Given the description of an element on the screen output the (x, y) to click on. 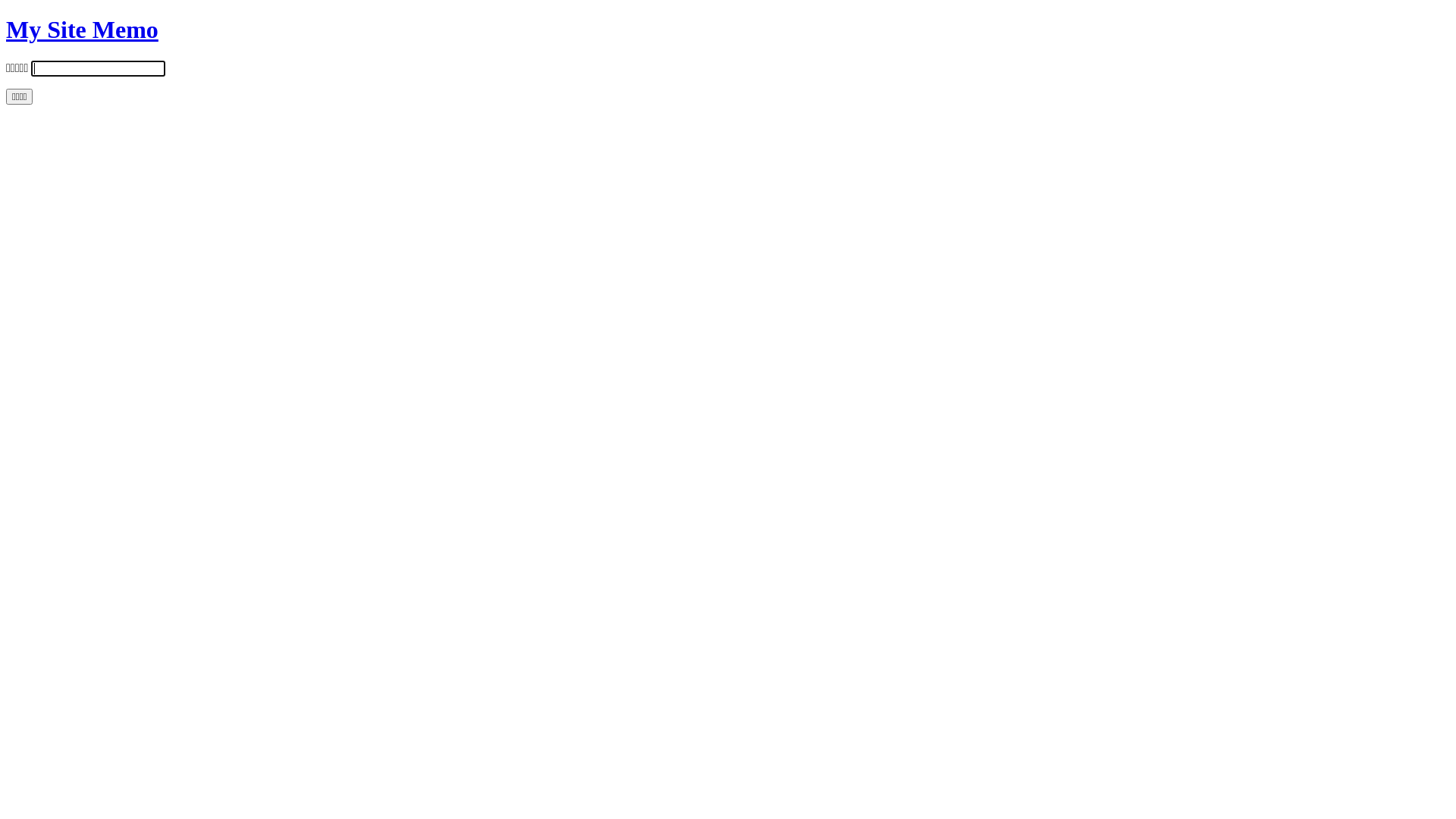
My Site Memo Element type: text (82, 29)
